Given the description of an element on the screen output the (x, y) to click on. 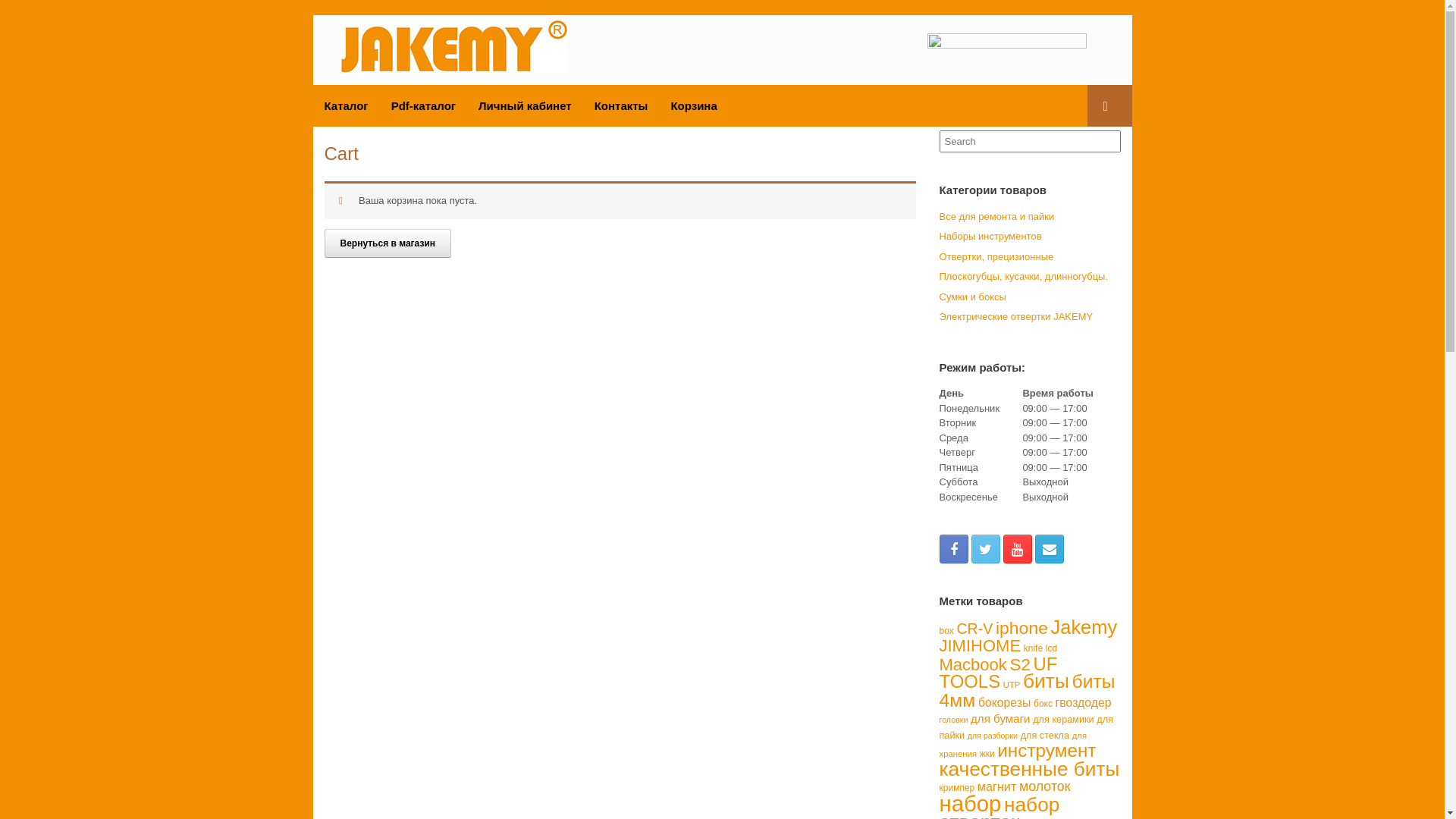
JAKEMY.BY YouTube Element type: hover (1016, 548)
UTP Element type: text (1011, 684)
CR-V Element type: text (974, 628)
JAKEMY.BY Element type: hover (453, 45)
JIMIHOME Element type: text (979, 645)
lcd Element type: text (1051, 648)
iphone Element type: text (1021, 627)
Macbook Element type: text (972, 664)
JAKEMY.BY Email Element type: hover (1048, 548)
Jakemy Element type: text (1084, 626)
JAKEMY.BY Twitter Element type: hover (984, 548)
box Element type: text (945, 629)
S2 Element type: text (1019, 664)
JAKEMY.BY Facebook Element type: hover (952, 548)
UF TOOLS Element type: text (997, 672)
knife Element type: text (1032, 648)
